Given the description of an element on the screen output the (x, y) to click on. 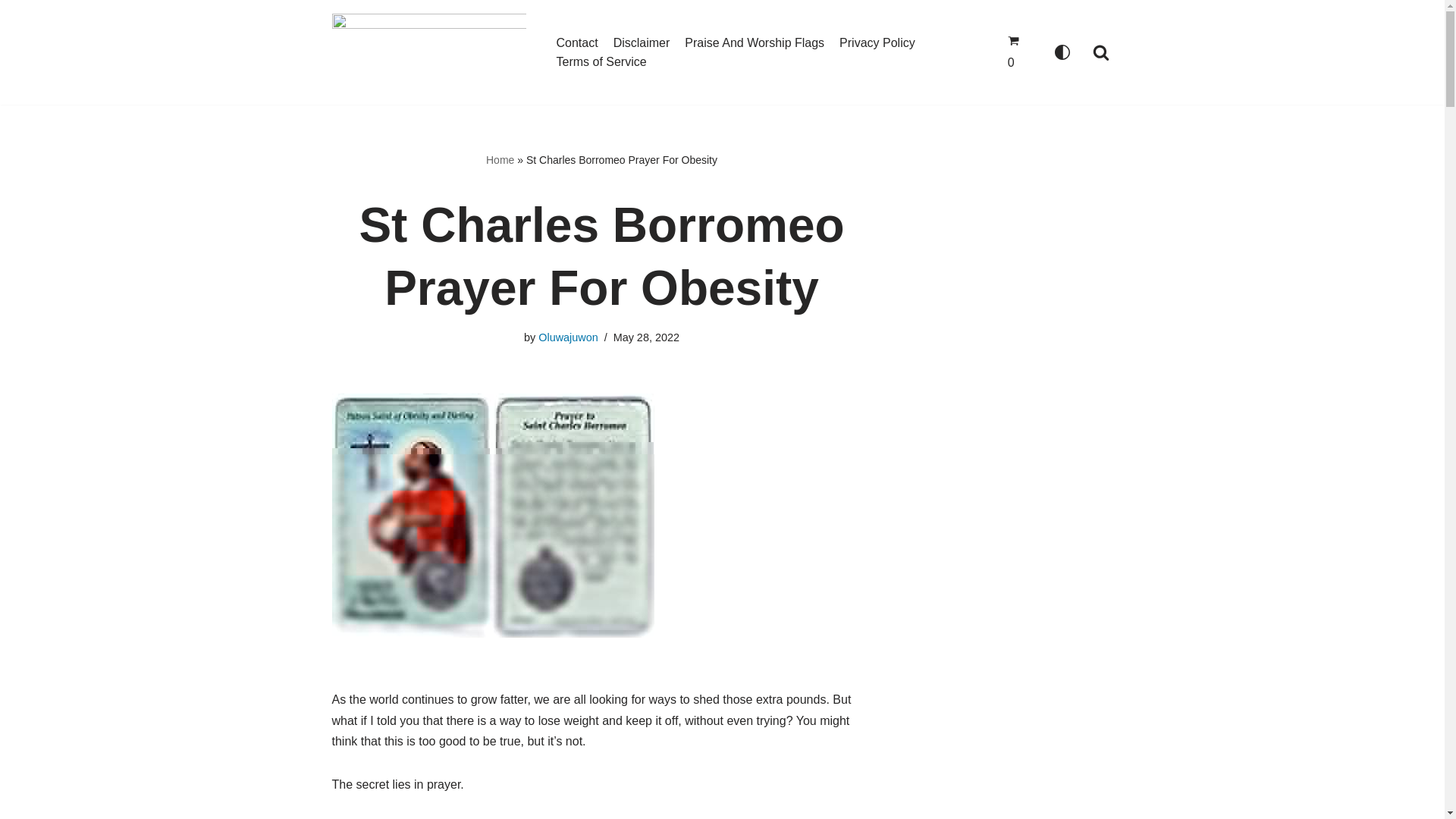
Skip to content (11, 31)
Terms of Service (601, 62)
Contact (577, 43)
Home (499, 159)
Praise And Worship Flags (754, 43)
Privacy Policy (877, 43)
Disclaimer (640, 43)
Posts by Oluwajuwon (567, 337)
Oluwajuwon (567, 337)
